Given the description of an element on the screen output the (x, y) to click on. 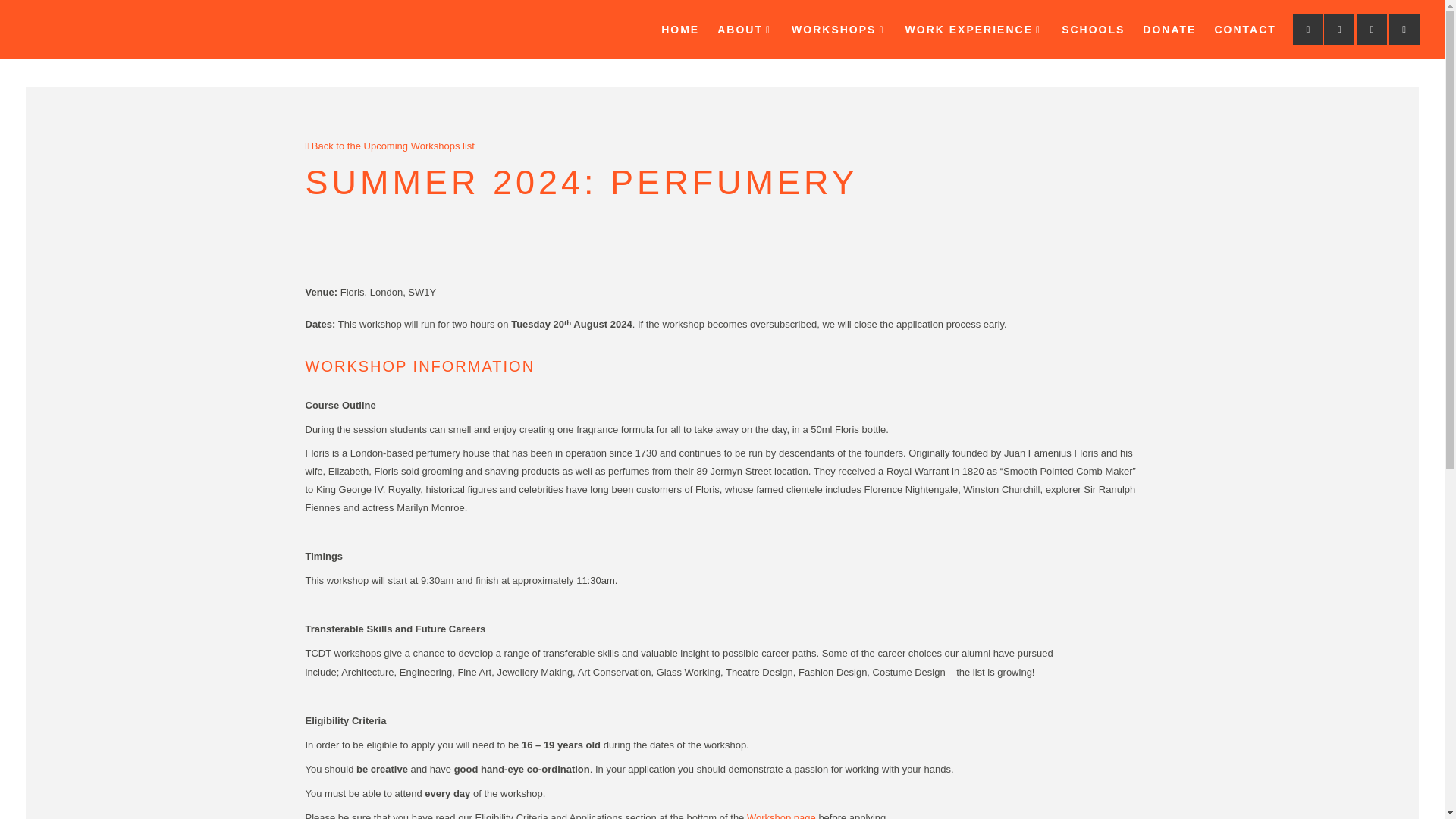
Workshop page (780, 815)
SCHOOLS (1093, 29)
WORKSHOPS (839, 29)
WORK EXPERIENCE (974, 29)
Back to the Upcoming Workshops list (389, 145)
DONATE (1169, 29)
HOME (679, 29)
CONTACT (1244, 29)
ABOUT (745, 29)
